Given the description of an element on the screen output the (x, y) to click on. 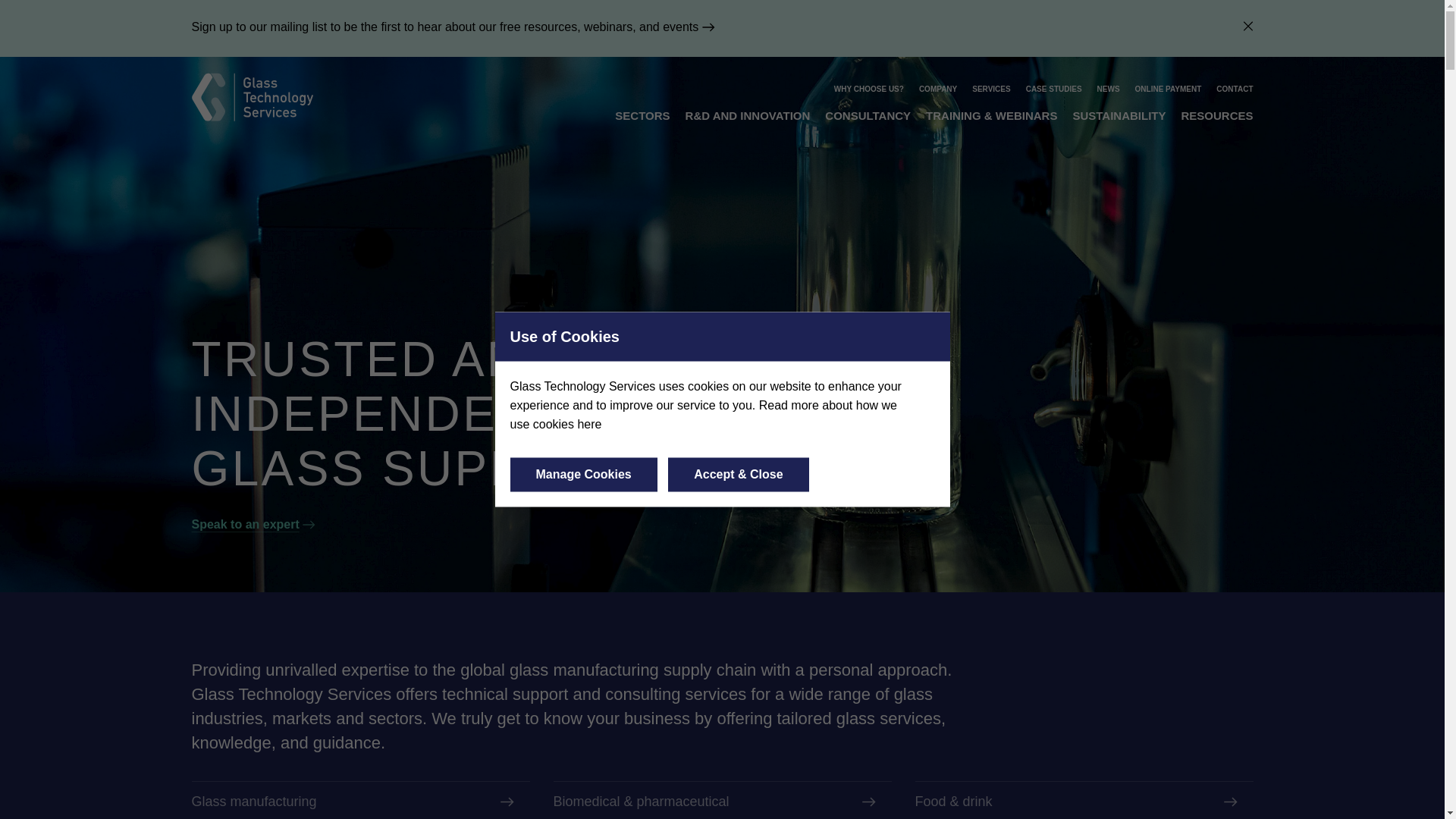
SUSTAINABILITY (1118, 115)
CASE STUDIES (1053, 89)
CONSULTANCY (868, 115)
ONLINE PAYMENT (1168, 89)
CONTACT (1233, 89)
COMPANY (937, 89)
RESOURCES (1216, 115)
Glass manufacturing (359, 800)
WHY CHOOSE US? (869, 89)
SERVICES (991, 89)
Speak to an expert (252, 523)
SECTORS (641, 115)
NEWS (1108, 89)
